Given the description of an element on the screen output the (x, y) to click on. 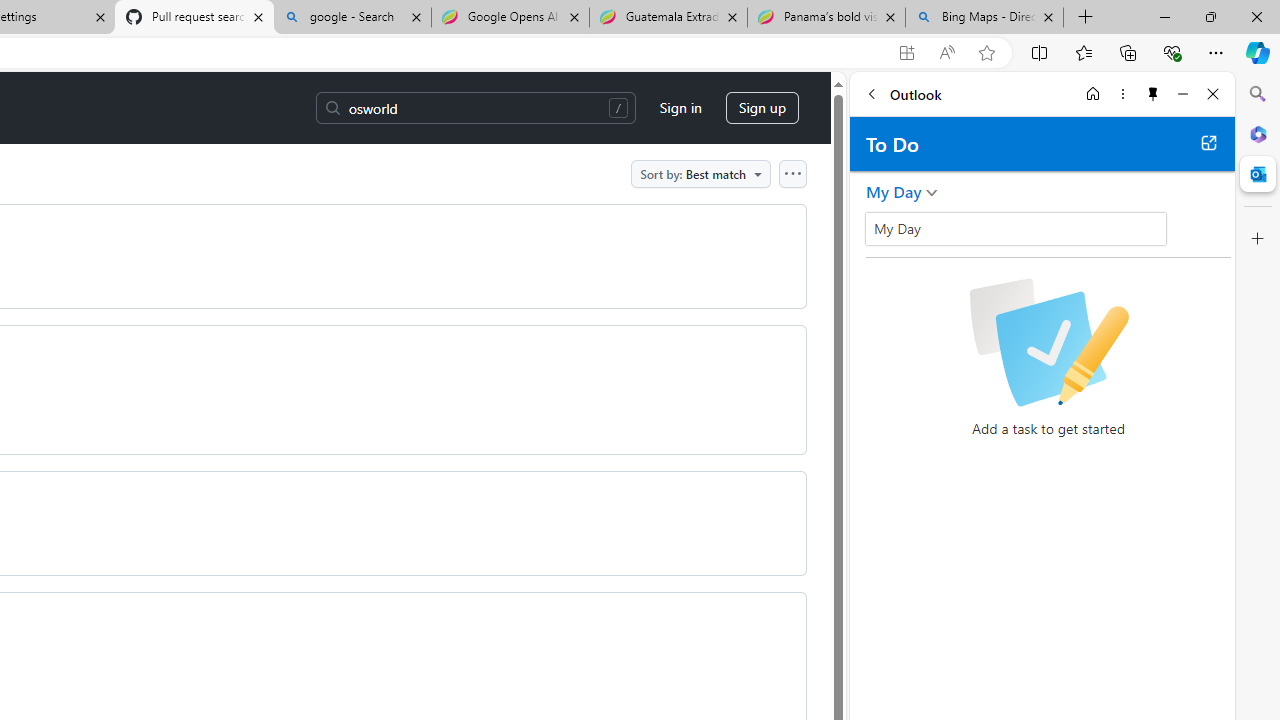
Sort by: Best match (700, 173)
Sign up (761, 107)
App available. Install GitHub (906, 53)
Close Outlook pane (1258, 174)
Customize (1258, 239)
